Given the description of an element on the screen output the (x, y) to click on. 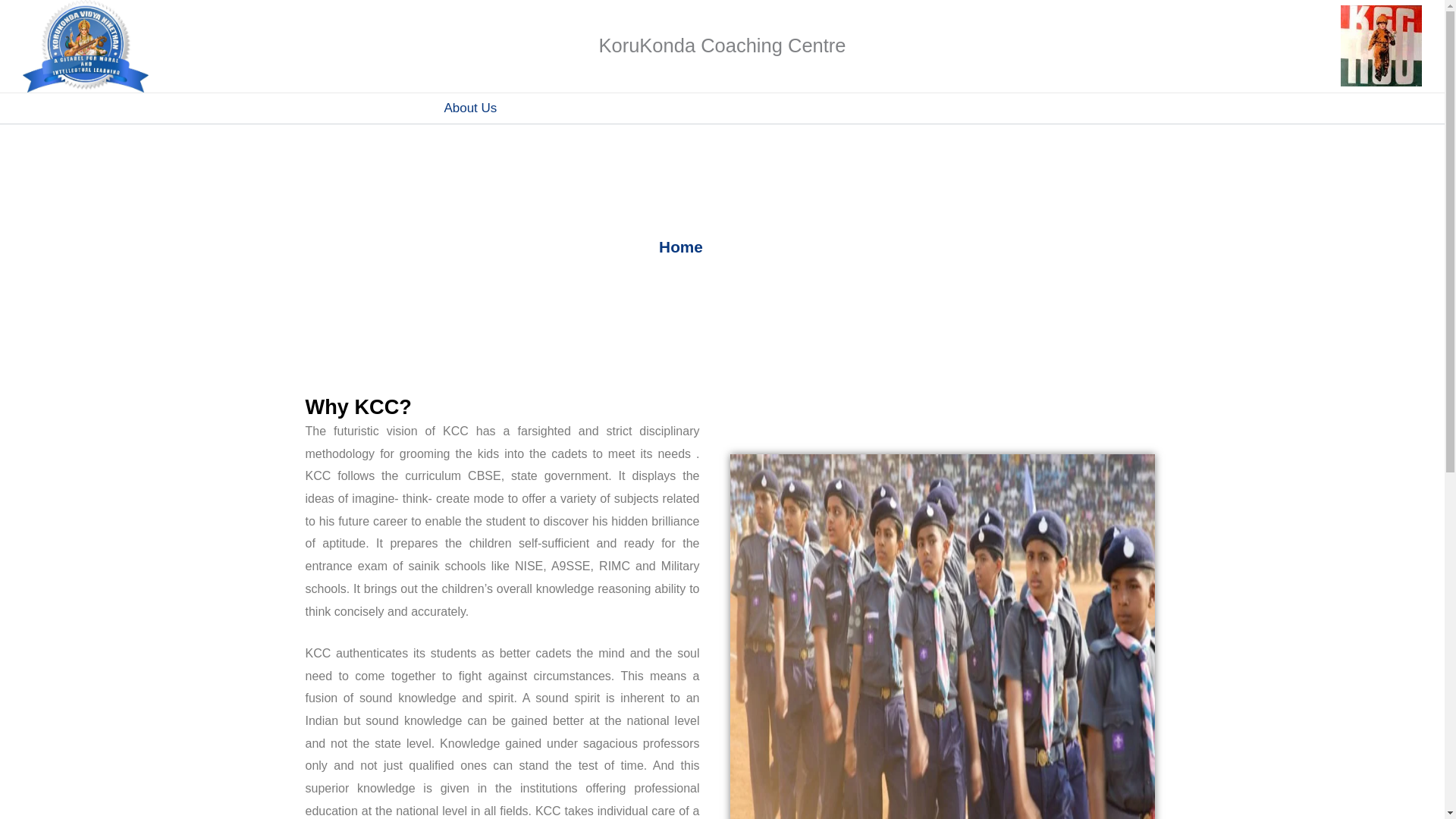
Contact (1038, 108)
Milestones (719, 108)
Home (400, 108)
About Us (469, 108)
KCC Quadrants on Media (849, 108)
Gallery (969, 108)
Life At KCC (630, 108)
Courses (546, 108)
